Given the description of an element on the screen output the (x, y) to click on. 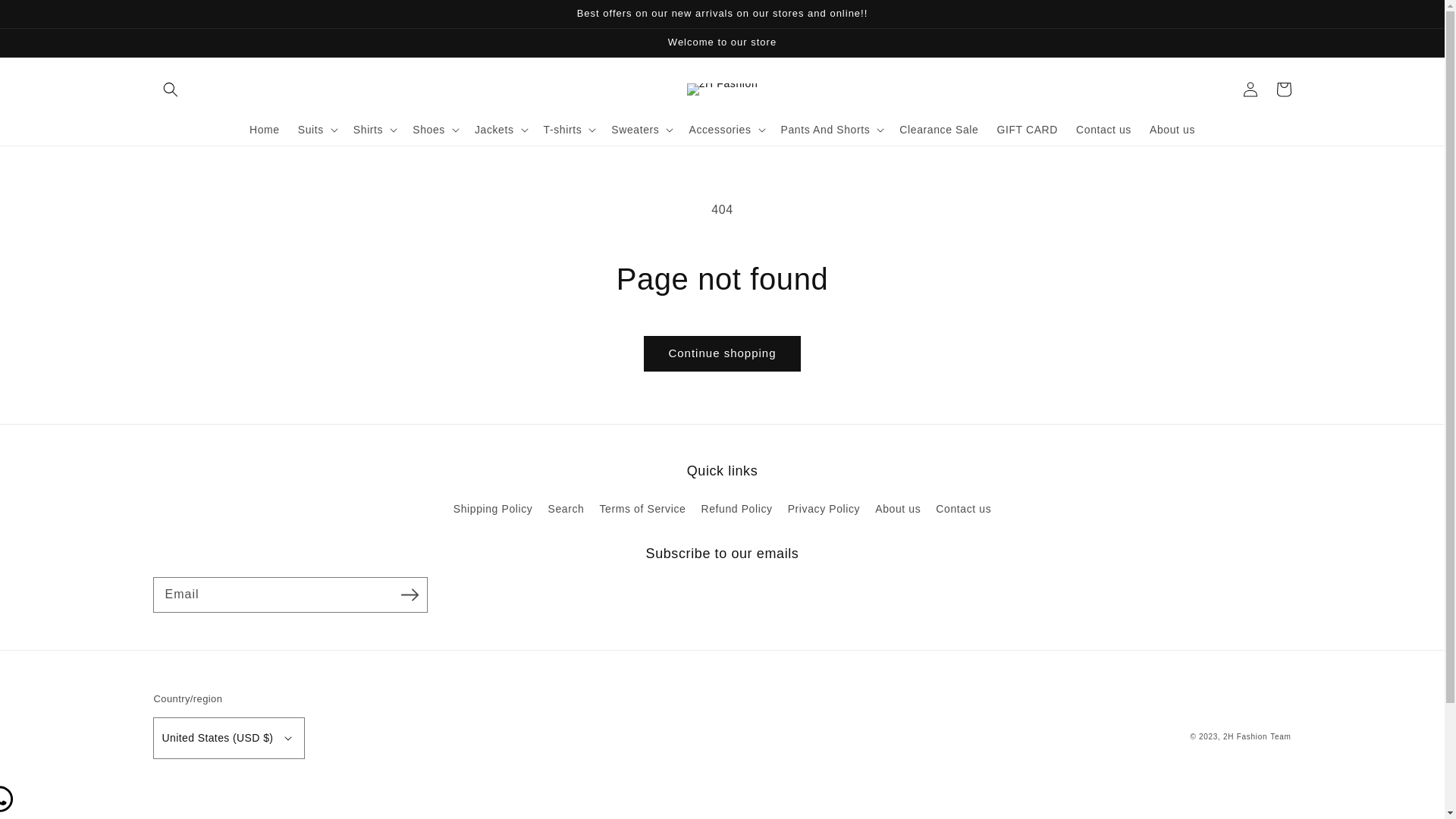
Search Element type: text (565, 508)
Continue shopping Element type: text (721, 353)
United States (USD $) Element type: text (228, 738)
Terms of Service Element type: text (642, 508)
About us Element type: text (897, 508)
Clearance Sale Element type: text (938, 129)
2H Fashion Element type: text (1245, 736)
Contact us Element type: text (1103, 129)
Contact us Element type: text (963, 508)
GIFT CARD Element type: text (1026, 129)
Log in Element type: text (1249, 89)
Refund Policy Element type: text (735, 508)
Team Element type: text (1280, 736)
Shipping Policy Element type: text (493, 510)
Privacy Policy Element type: text (823, 508)
Cart Element type: text (1282, 89)
About us Element type: text (1172, 129)
Home Element type: text (264, 129)
